Given the description of an element on the screen output the (x, y) to click on. 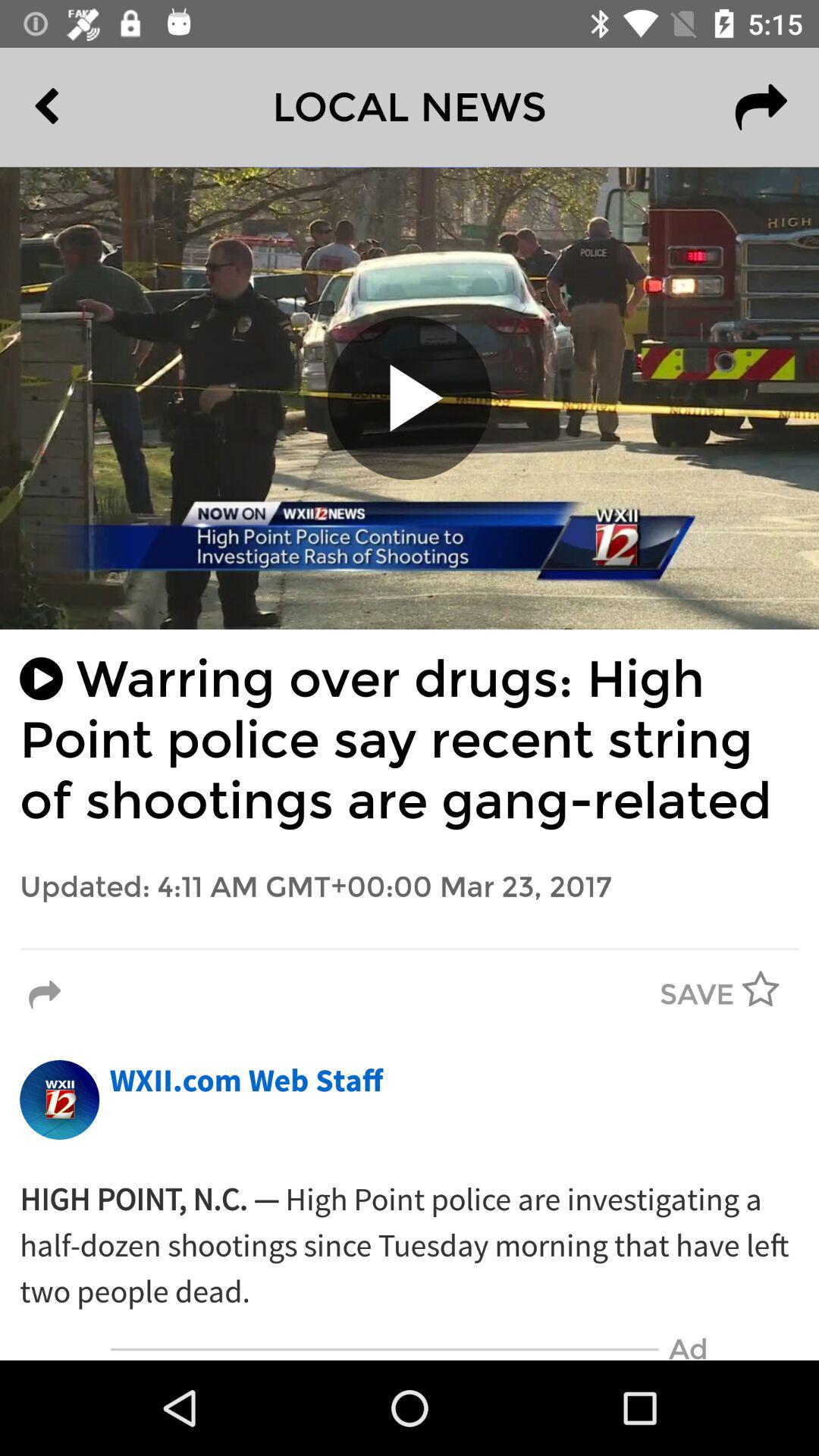
tap the item to the left of save icon (44, 995)
